Given the description of an element on the screen output the (x, y) to click on. 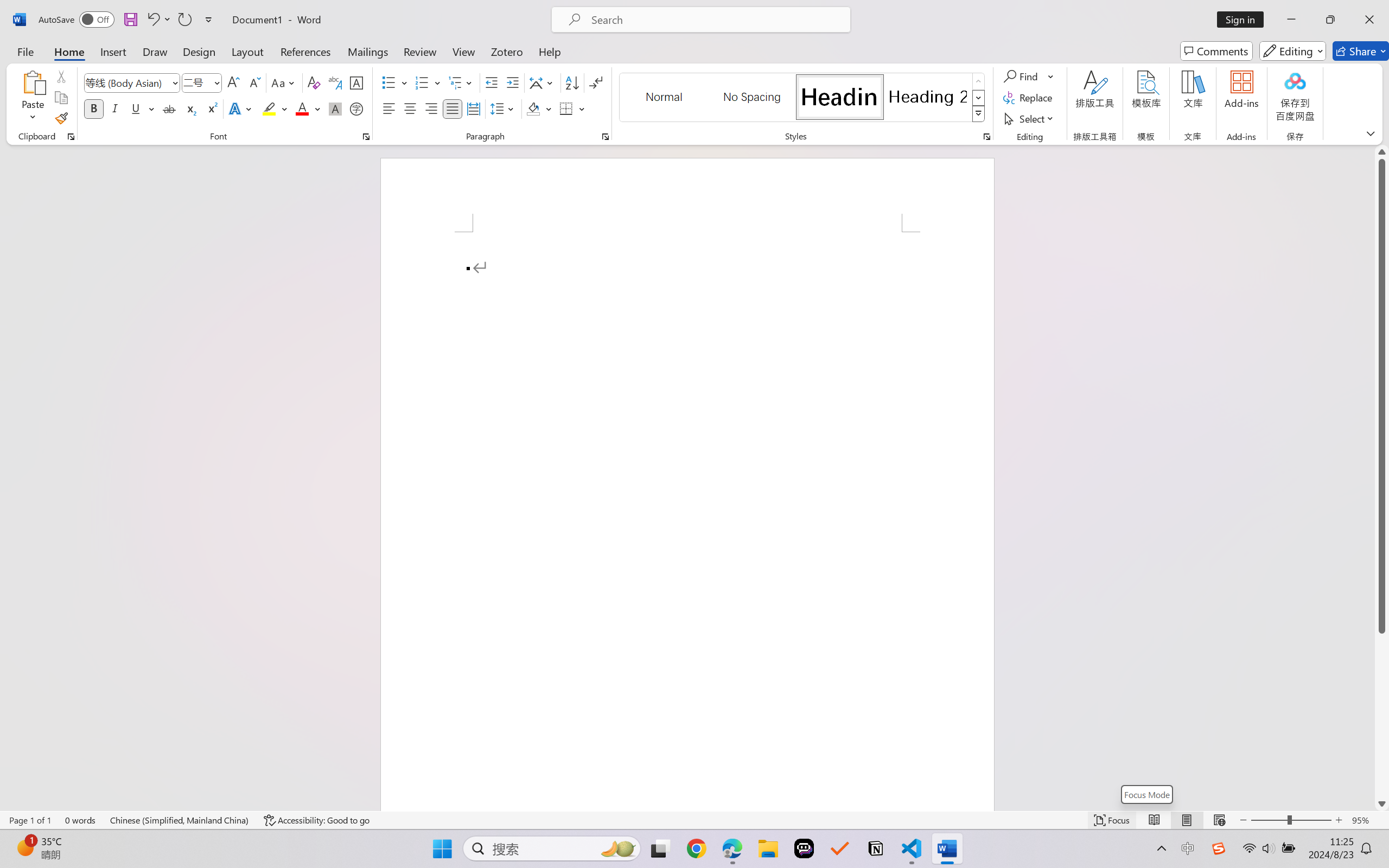
AutomationID: QuickStylesGallery (802, 97)
